Given the description of an element on the screen output the (x, y) to click on. 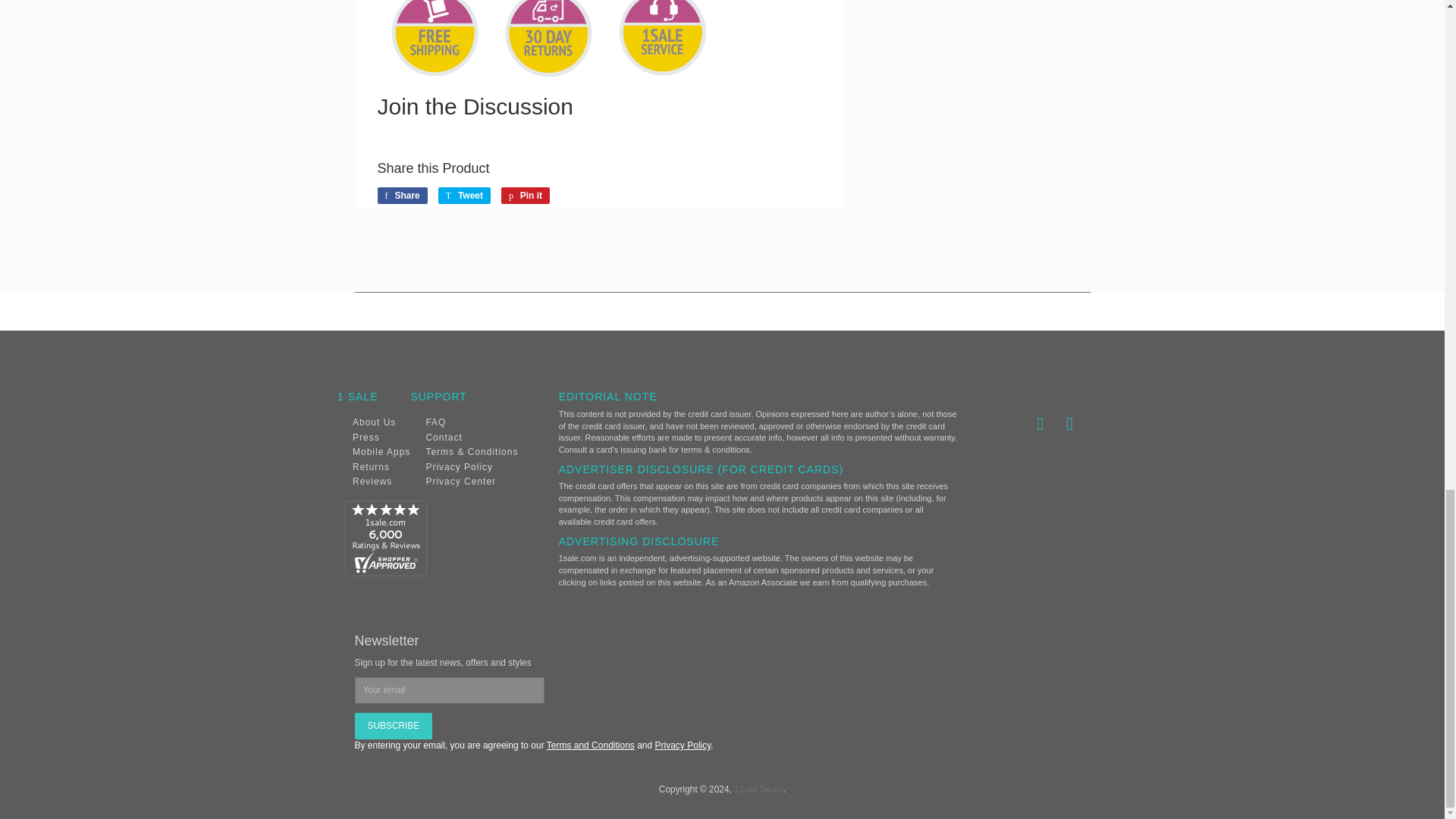
Tweet on Twitter (464, 195)
Subscribe (393, 725)
Share on Facebook (402, 195)
Pin on Pinterest (525, 195)
